Given the description of an element on the screen output the (x, y) to click on. 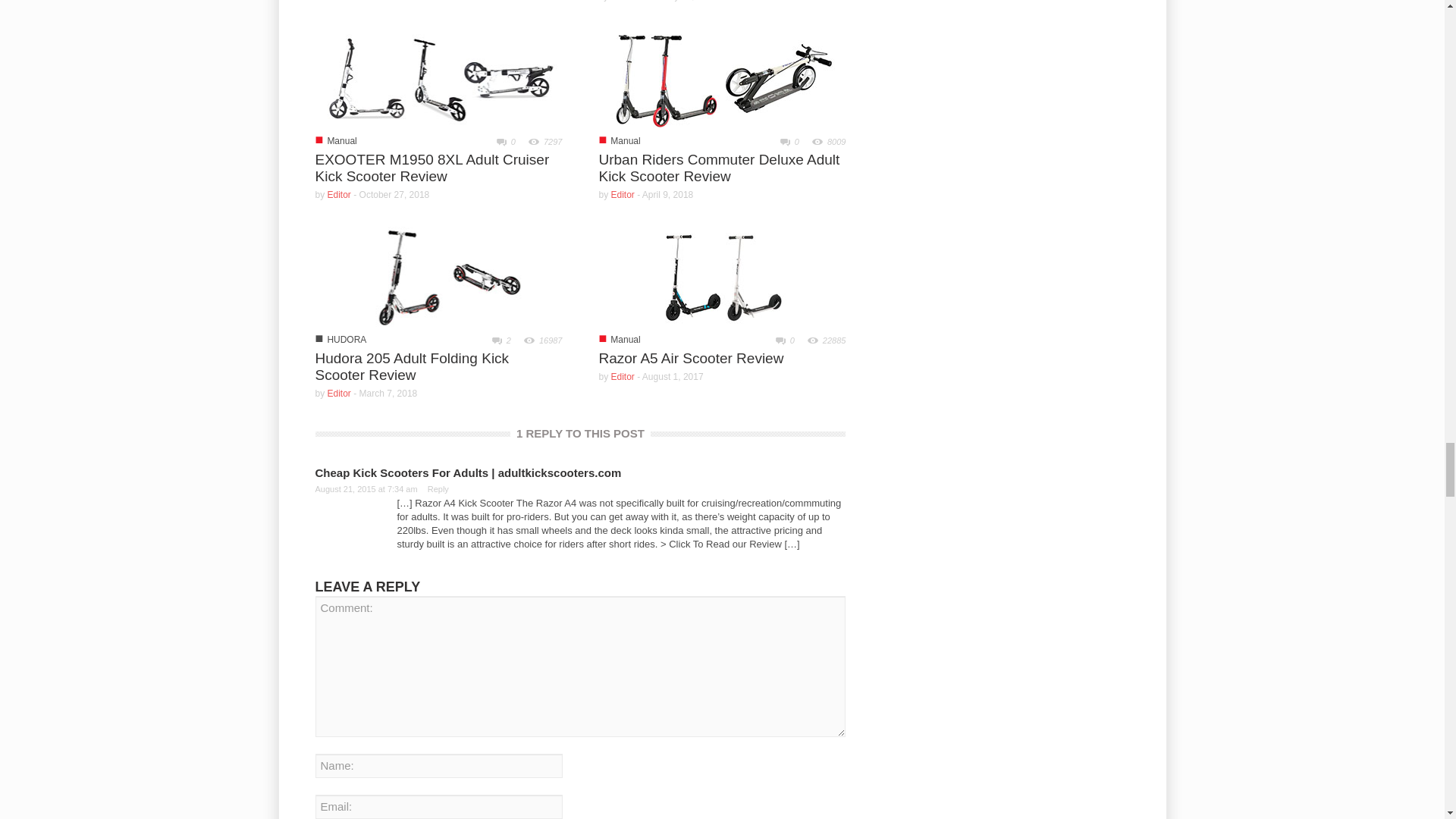
Urban Riders Commuter Deluxe Adult Kick Scooter Review (721, 76)
EXOOTER M1950 8XL Adult Cruiser Kick Scooter Review (438, 77)
EXOOTER M1950 8XL Adult Cruiser Kick Scooter Review (438, 76)
EXOOTER M1950 8XL Adult Cruiser Kick Scooter Review (432, 167)
